Given the description of an element on the screen output the (x, y) to click on. 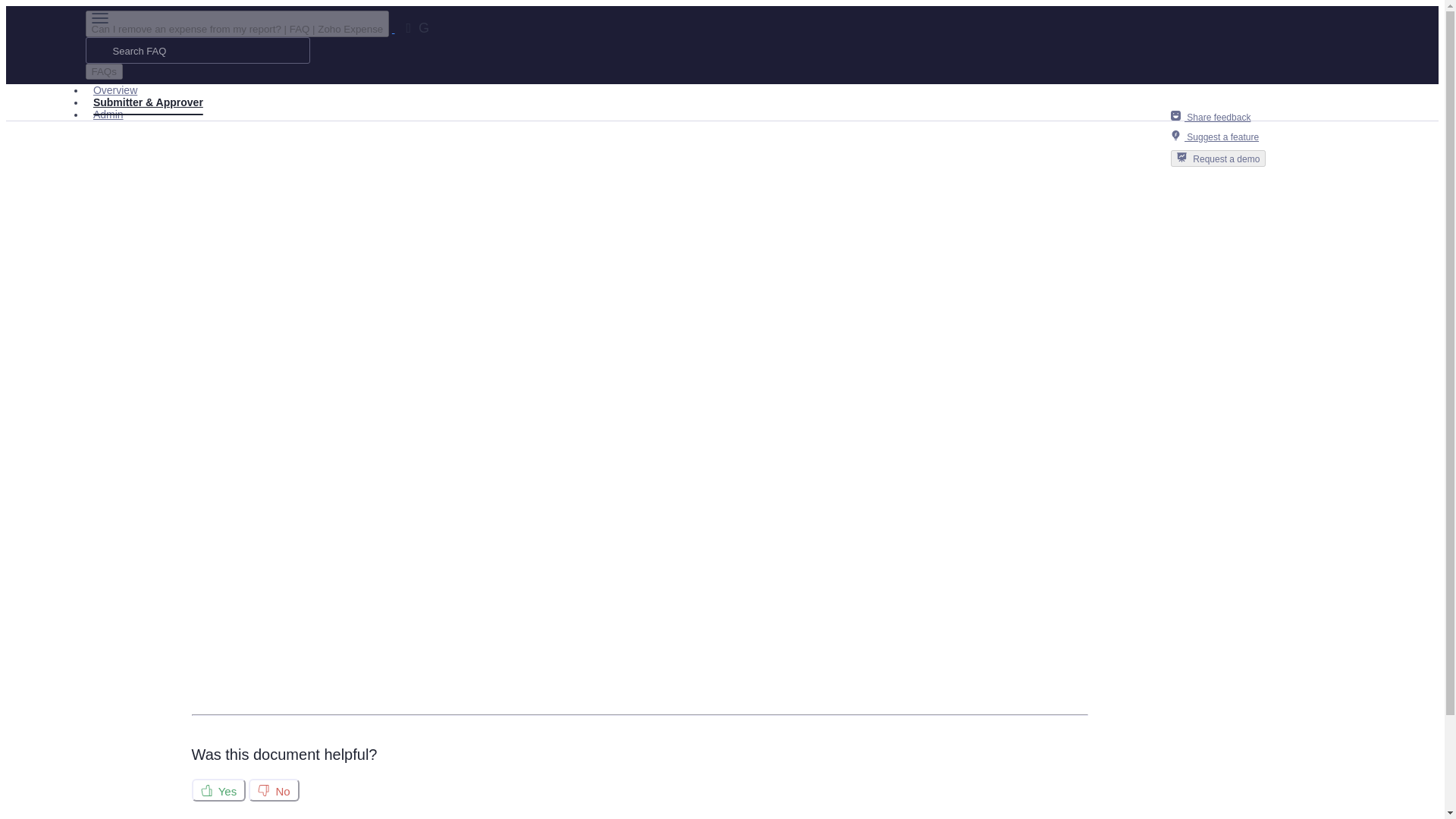
FAQs (103, 71)
Share feedback (1217, 116)
Request a demo (1217, 158)
Yes (218, 790)
Suggest a feature (1217, 136)
No (273, 790)
Overview (114, 89)
Admin (108, 114)
